Given the description of an element on the screen output the (x, y) to click on. 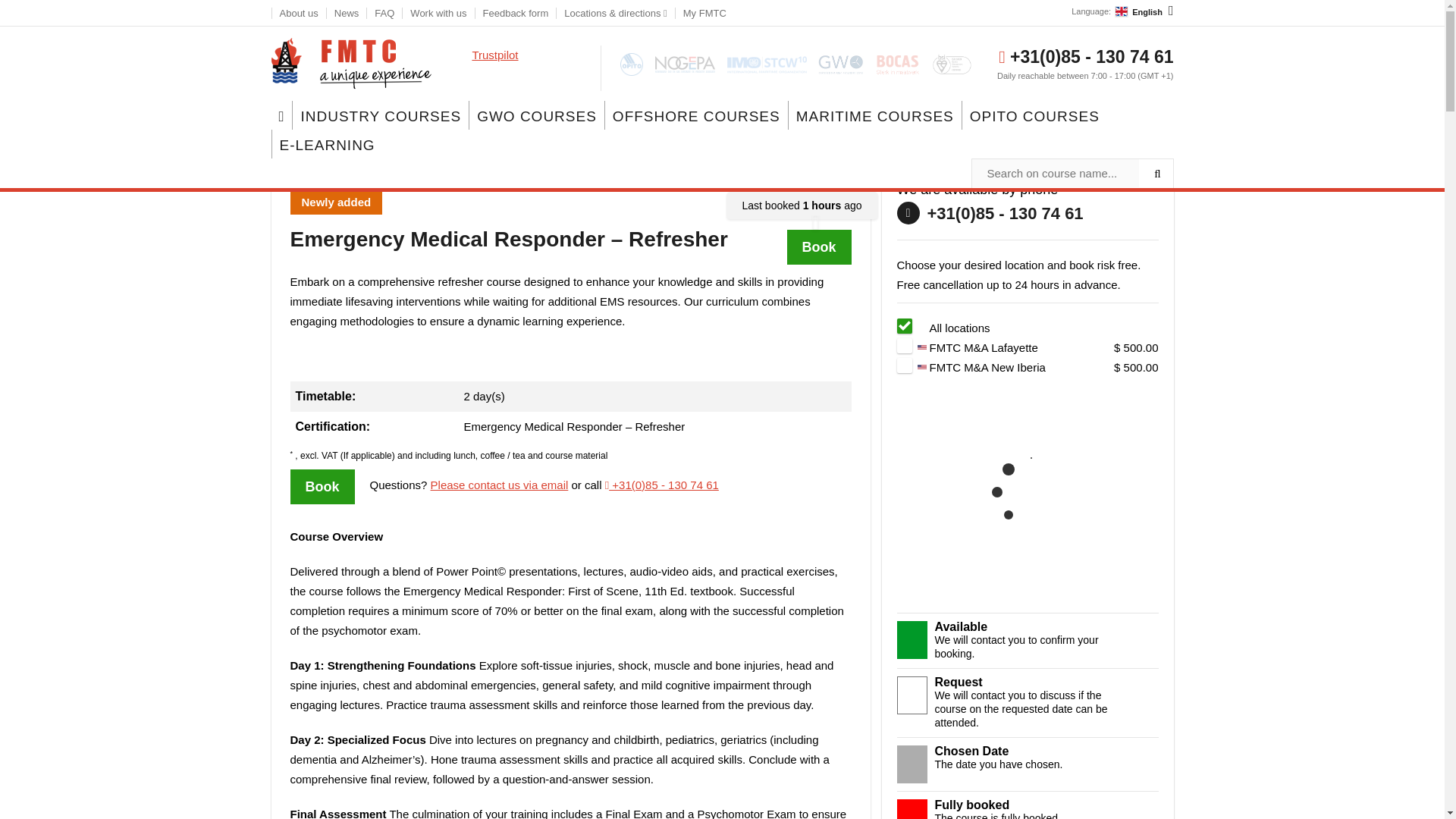
English flag (1121, 11)
opito-logo (631, 64)
nogepa (684, 64)
bocas (898, 64)
gwo (840, 64)
FMTC Safety (350, 63)
